Given the description of an element on the screen output the (x, y) to click on. 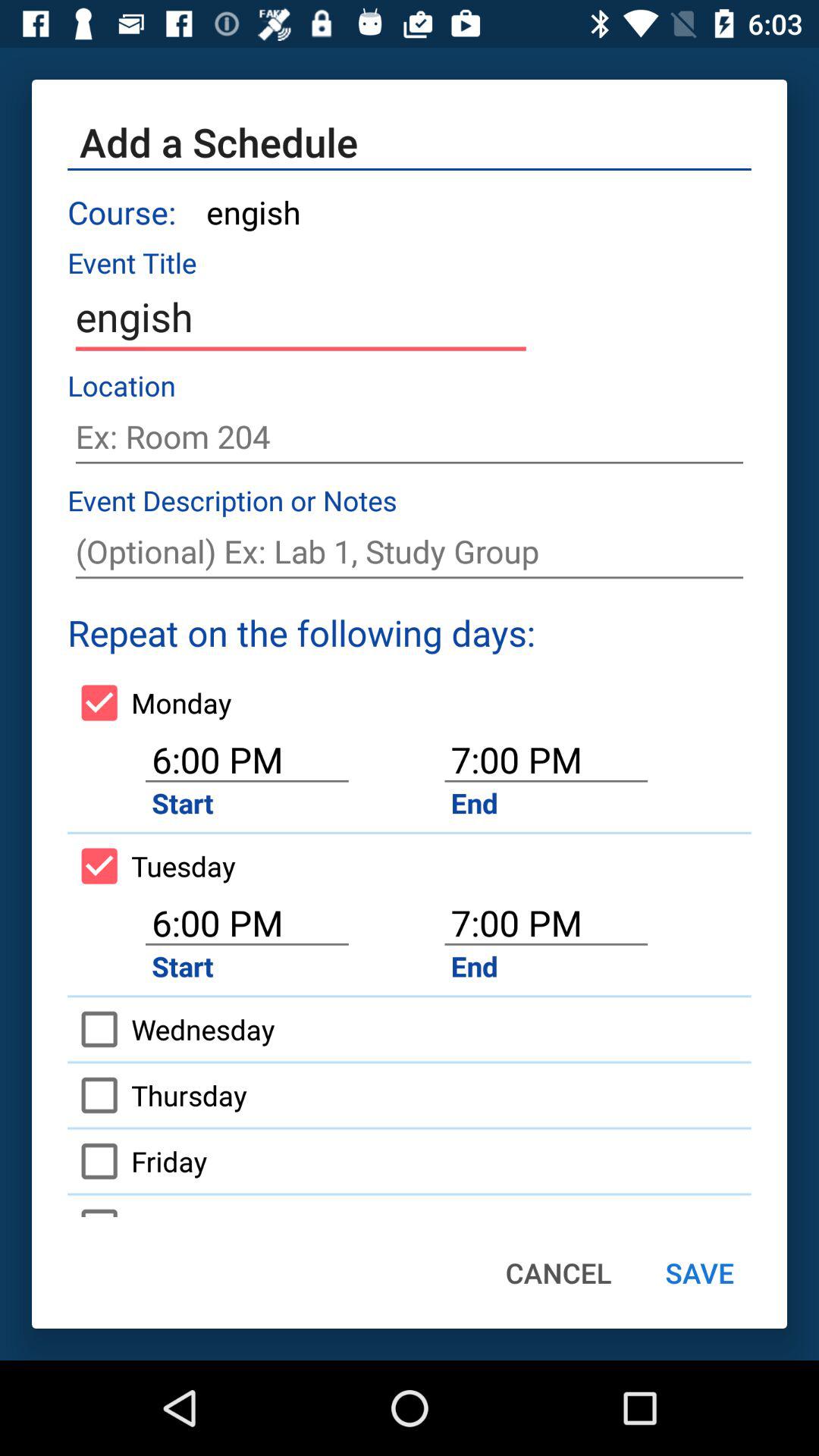
enter event notes (409, 551)
